Given the description of an element on the screen output the (x, y) to click on. 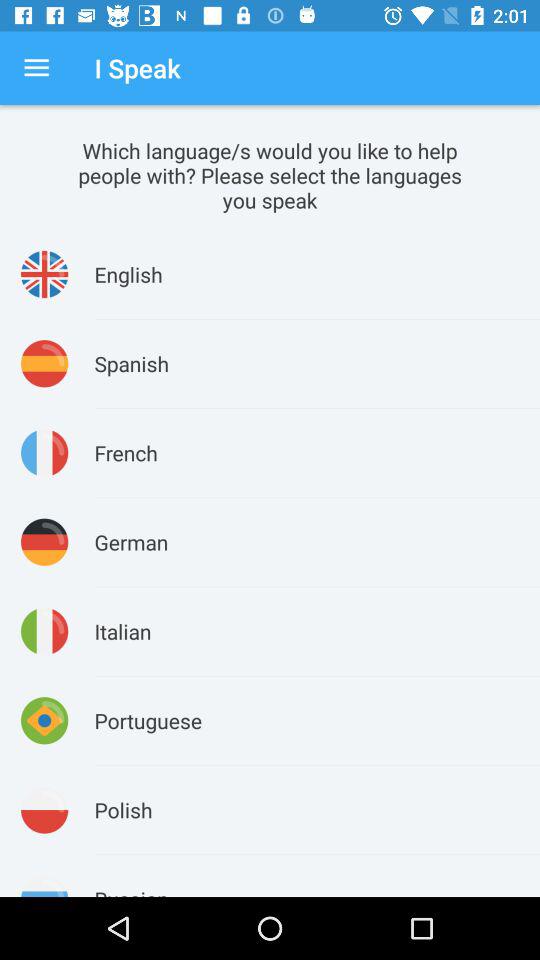
tap the icon above the which language s icon (36, 68)
